Given the description of an element on the screen output the (x, y) to click on. 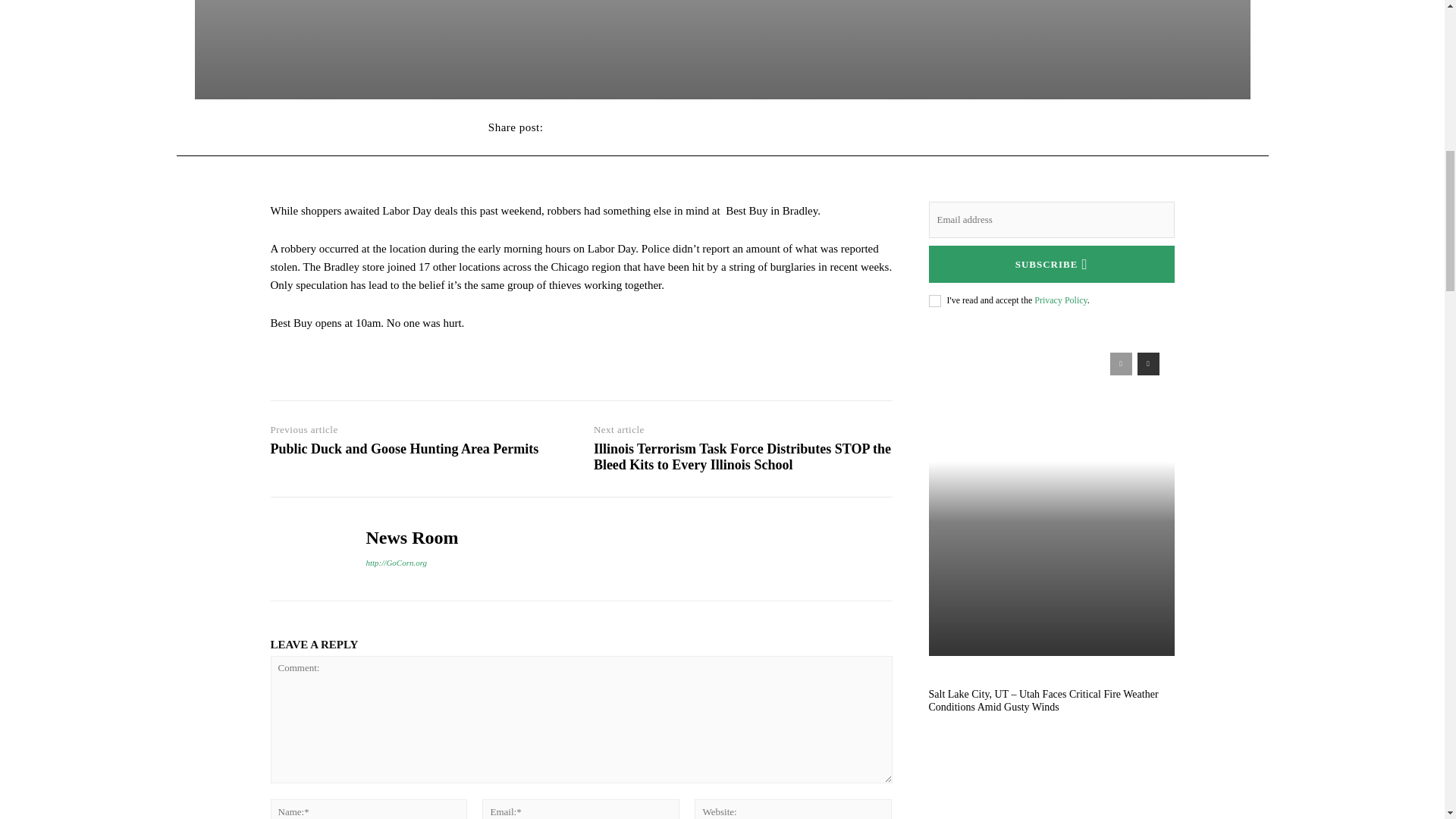
News Room (305, 548)
